Given the description of an element on the screen output the (x, y) to click on. 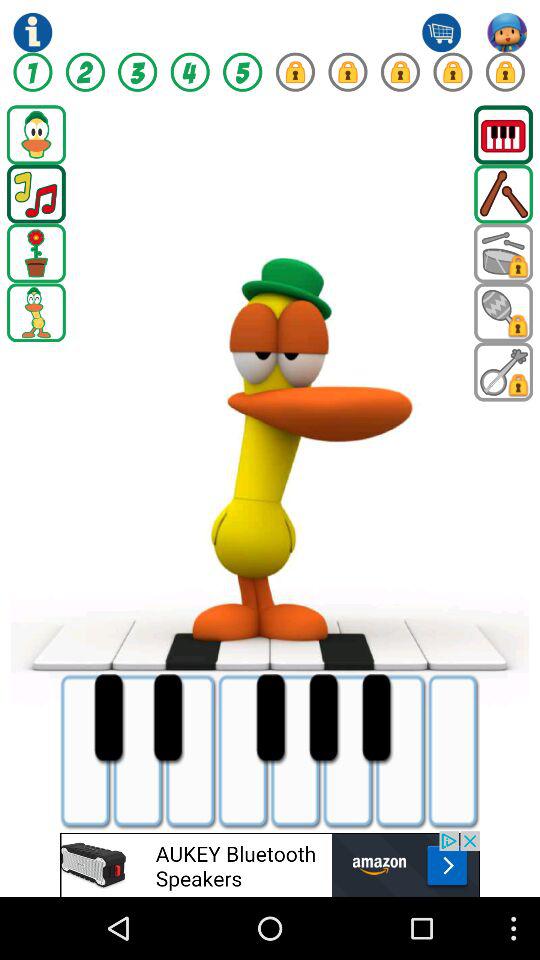
information option (32, 32)
